Given the description of an element on the screen output the (x, y) to click on. 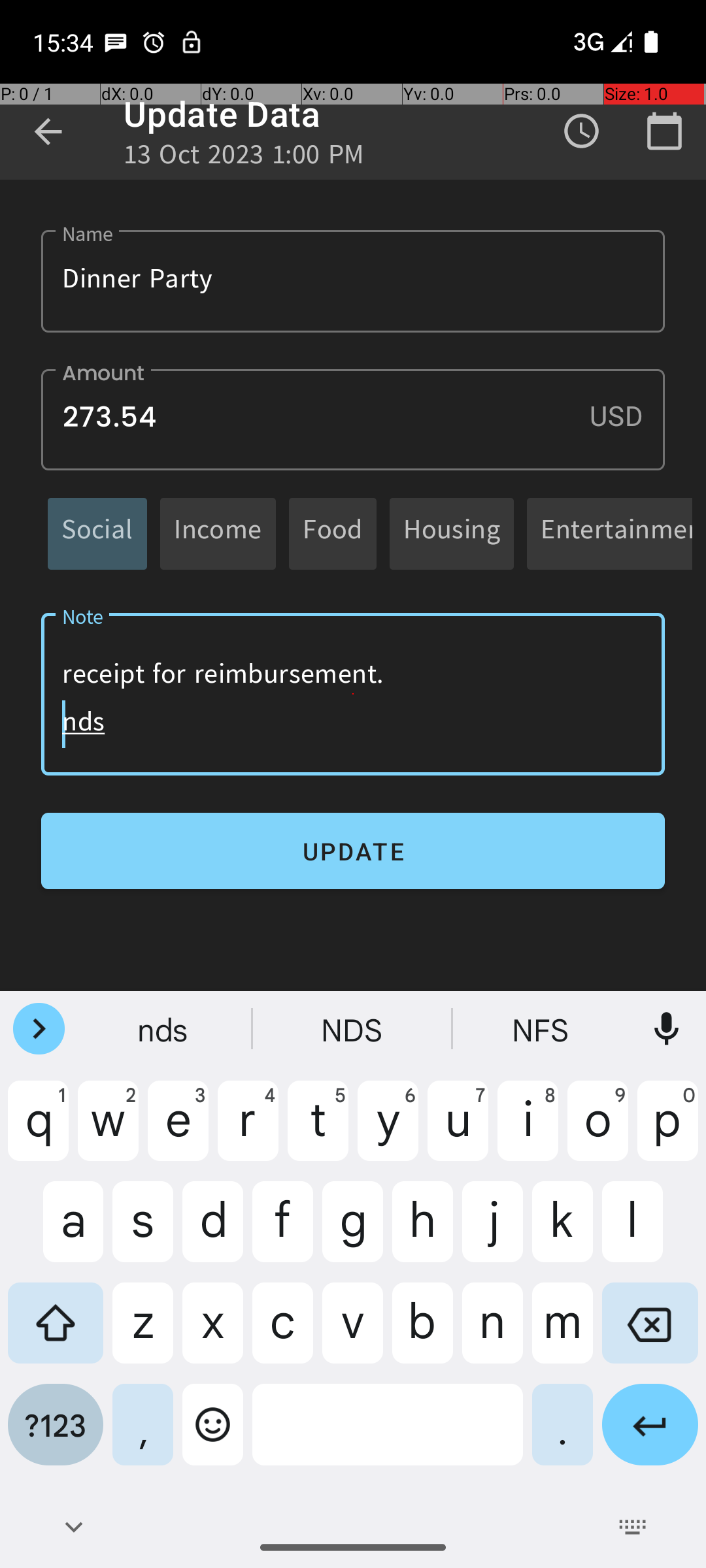
13 Oct 2023 1:00 PM Element type: android.widget.TextView (243, 157)
273.54 Element type: android.widget.EditText (352, 419)
Remember to transfer fuMake sure to save the receipt for reimbursement.
nds Element type: android.widget.EditText (352, 693)
nds Element type: android.widget.FrameLayout (163, 1028)
NDS Element type: android.widget.FrameLayout (352, 1028)
NFS Element type: android.widget.FrameLayout (541, 1028)
